Given the description of an element on the screen output the (x, y) to click on. 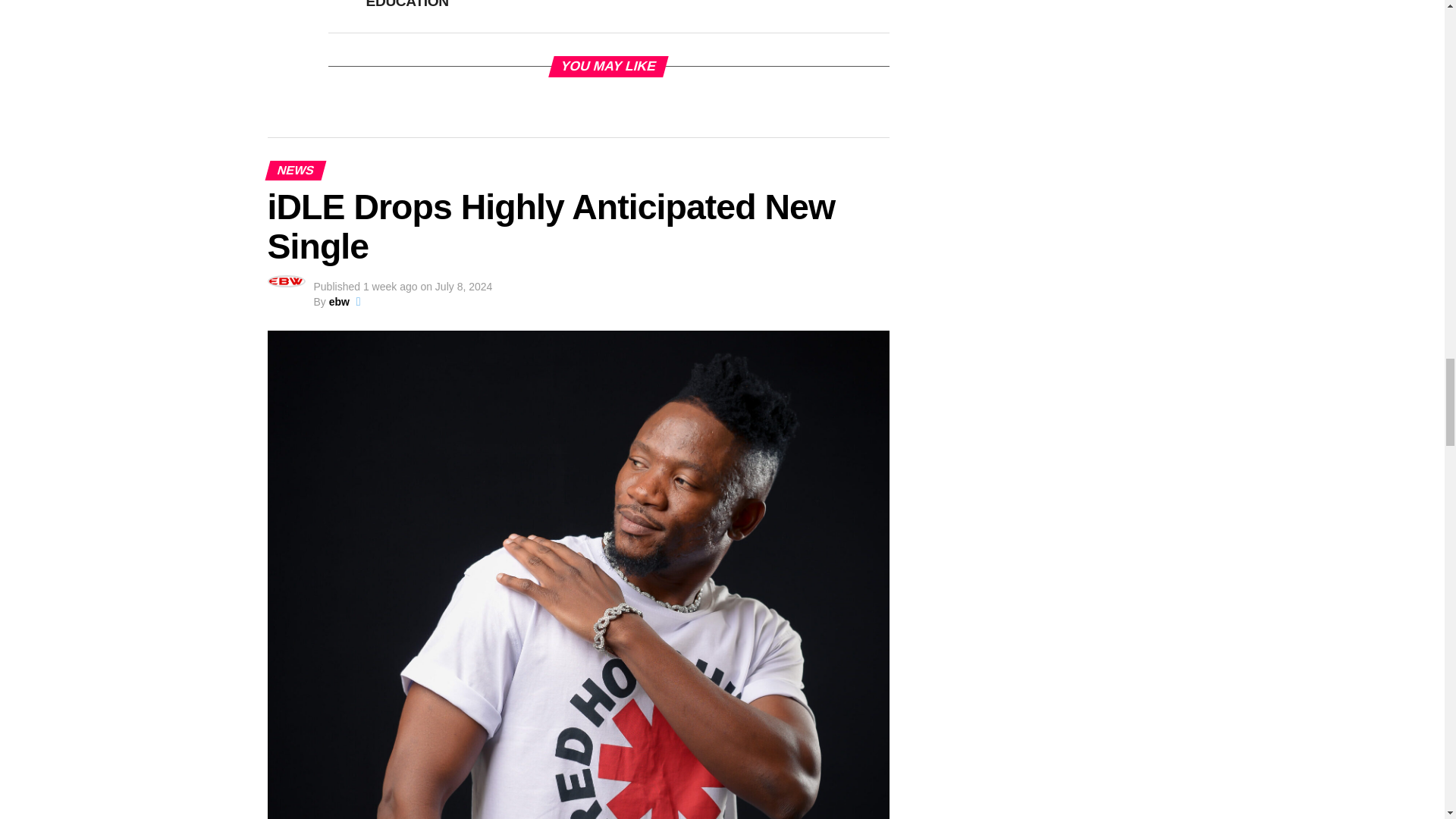
Posts by ebw (339, 301)
